Given the description of an element on the screen output the (x, y) to click on. 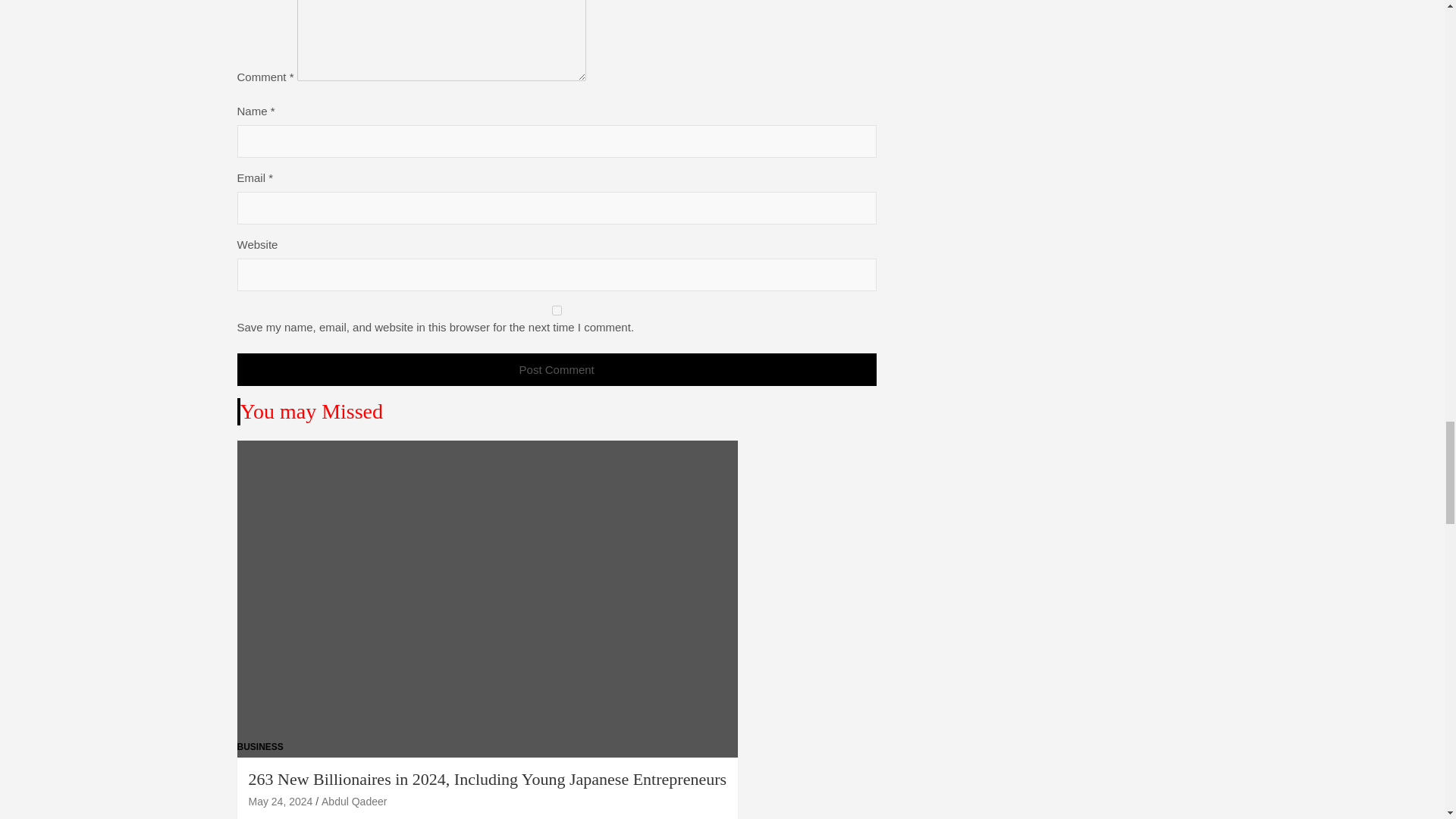
Post Comment (555, 368)
yes (555, 310)
